Given the description of an element on the screen output the (x, y) to click on. 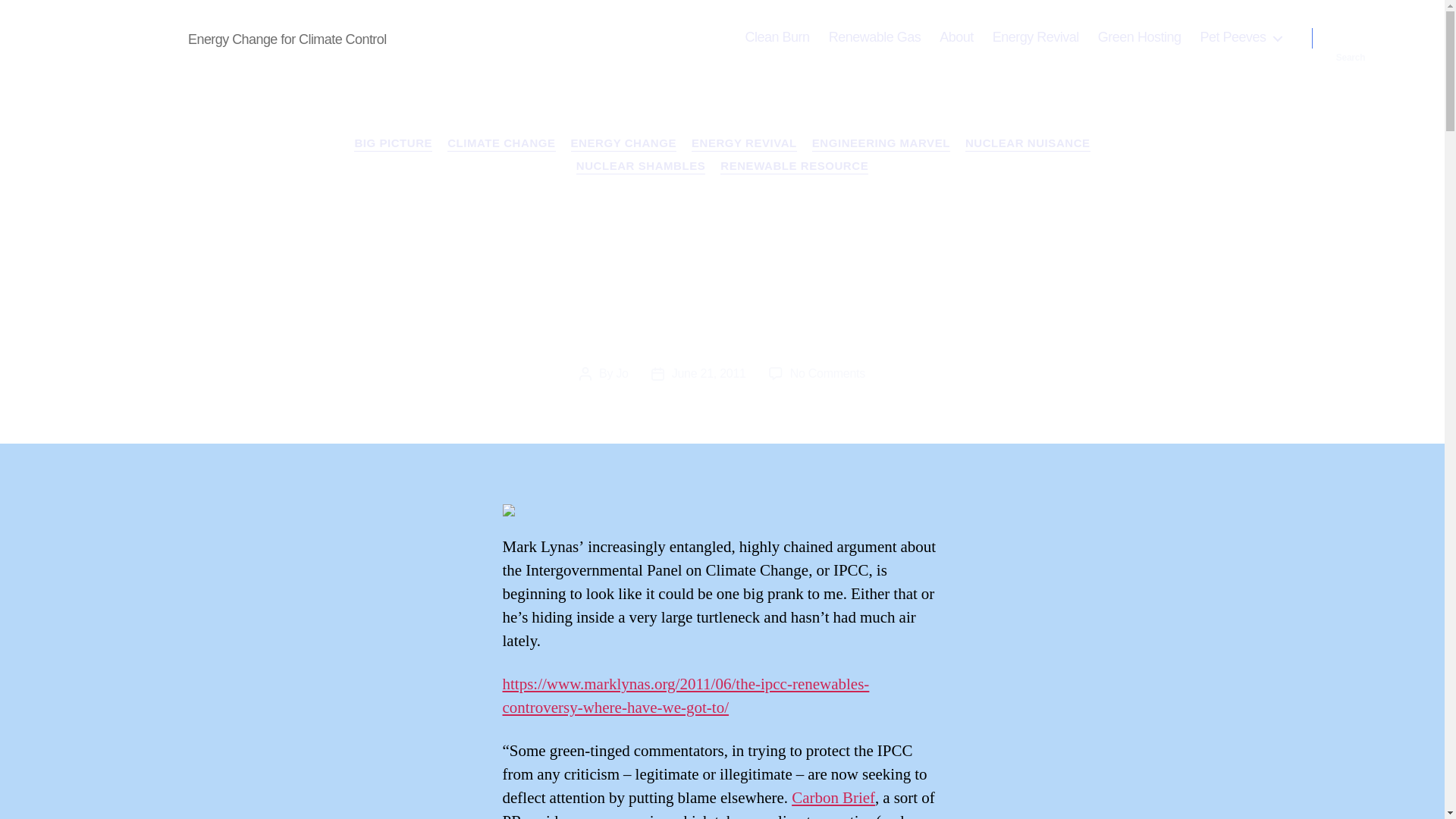
About (956, 37)
ENERGY REVIVAL (827, 373)
Energy Revival (743, 143)
June 21, 2011 (1035, 37)
Renewable Gas (708, 373)
Search (874, 37)
ENERGY CHANGE (1350, 37)
NUCLEAR SHAMBLES (623, 143)
CLIMATE CHANGE (640, 166)
